Given the description of an element on the screen output the (x, y) to click on. 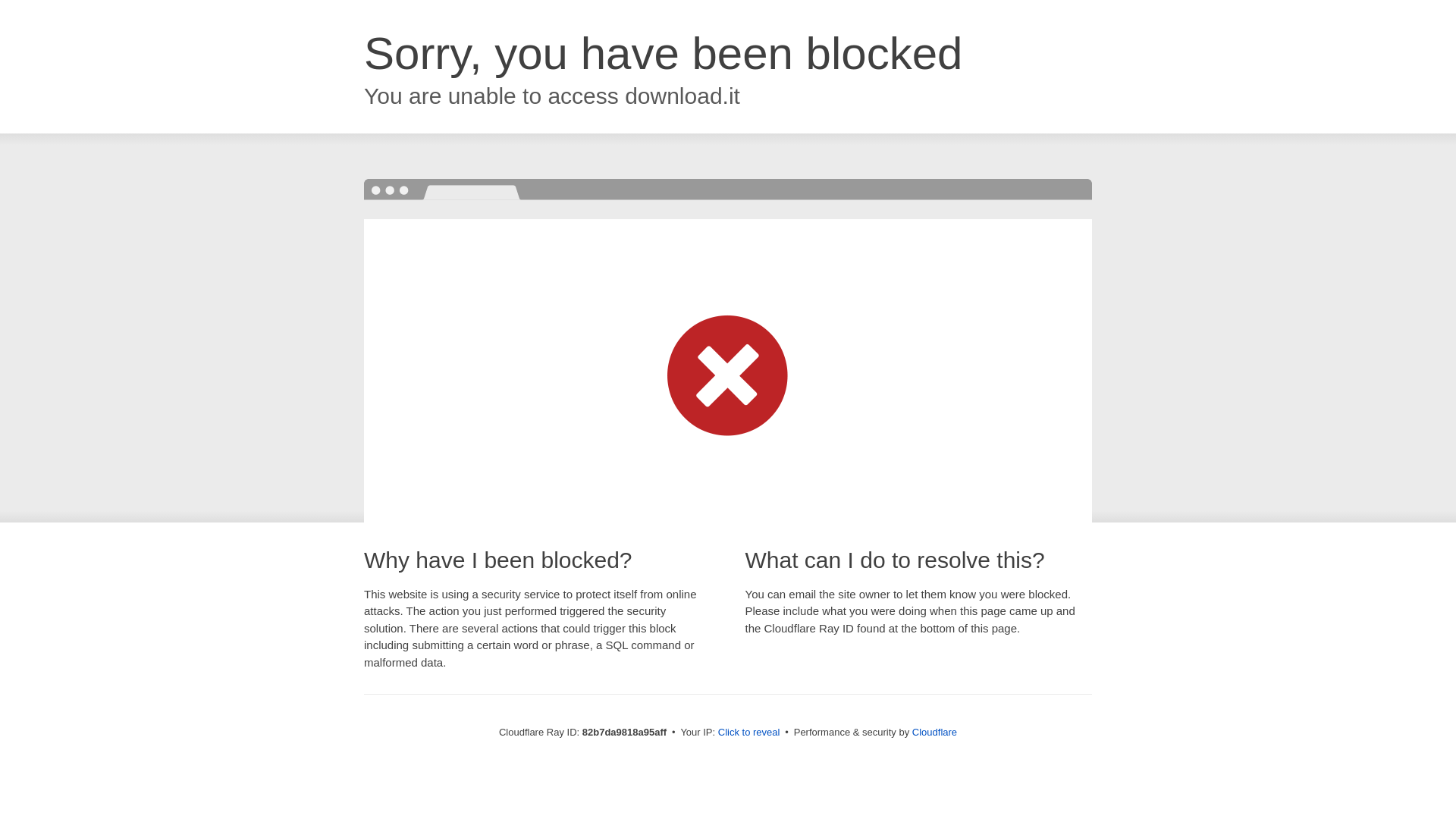
Click to reveal Element type: text (749, 732)
Cloudflare Element type: text (934, 731)
